Given the description of an element on the screen output the (x, y) to click on. 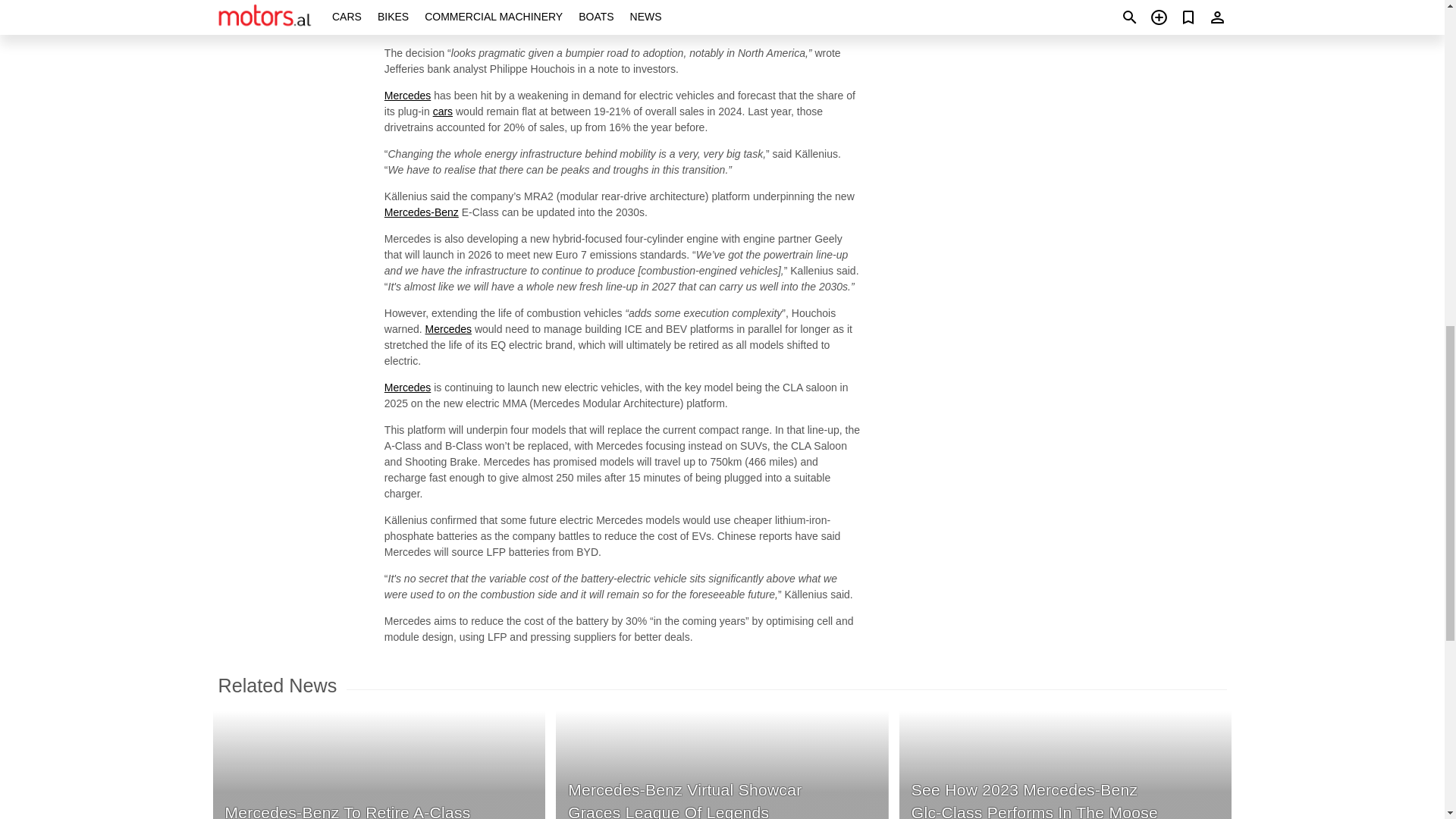
Mercedes for sale IN ALBANIA (407, 95)
BUY USED CARS IN Kurbin ALBANIA (442, 111)
Mercedes (448, 328)
Mercedes (407, 95)
BUY USED Mercedes-Benz IN Tropoje ALBANIA (421, 212)
Mercedes-Benz (421, 212)
cars (442, 111)
Mercedes for sale IN TIRANE (407, 0)
Mercedes for sale IN DURRES (407, 387)
Mercedes (407, 387)
Mercedes for sale IN TIRANE (448, 328)
Mercedes (407, 0)
